Given the description of an element on the screen output the (x, y) to click on. 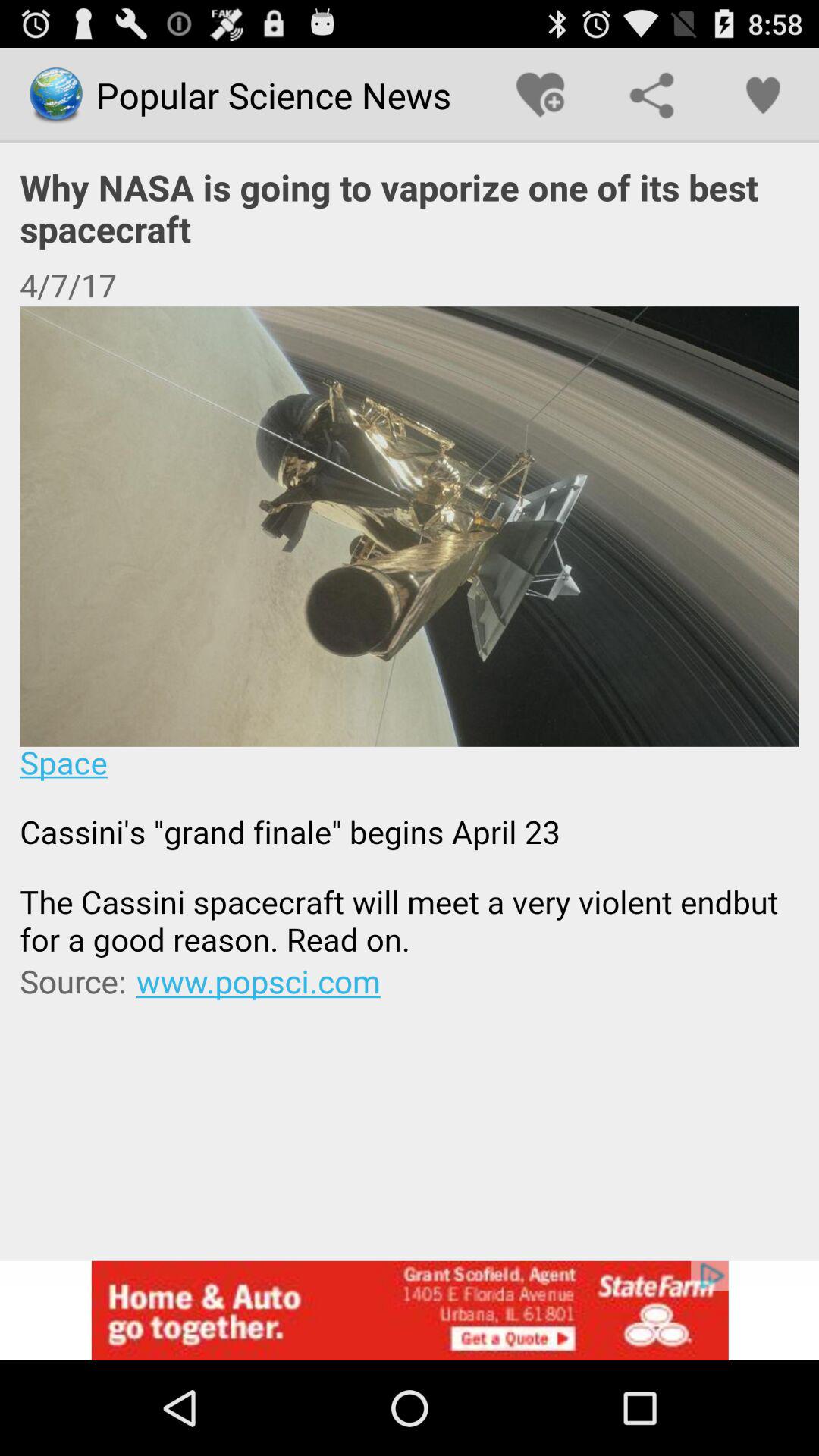
open the article (409, 632)
